Given the description of an element on the screen output the (x, y) to click on. 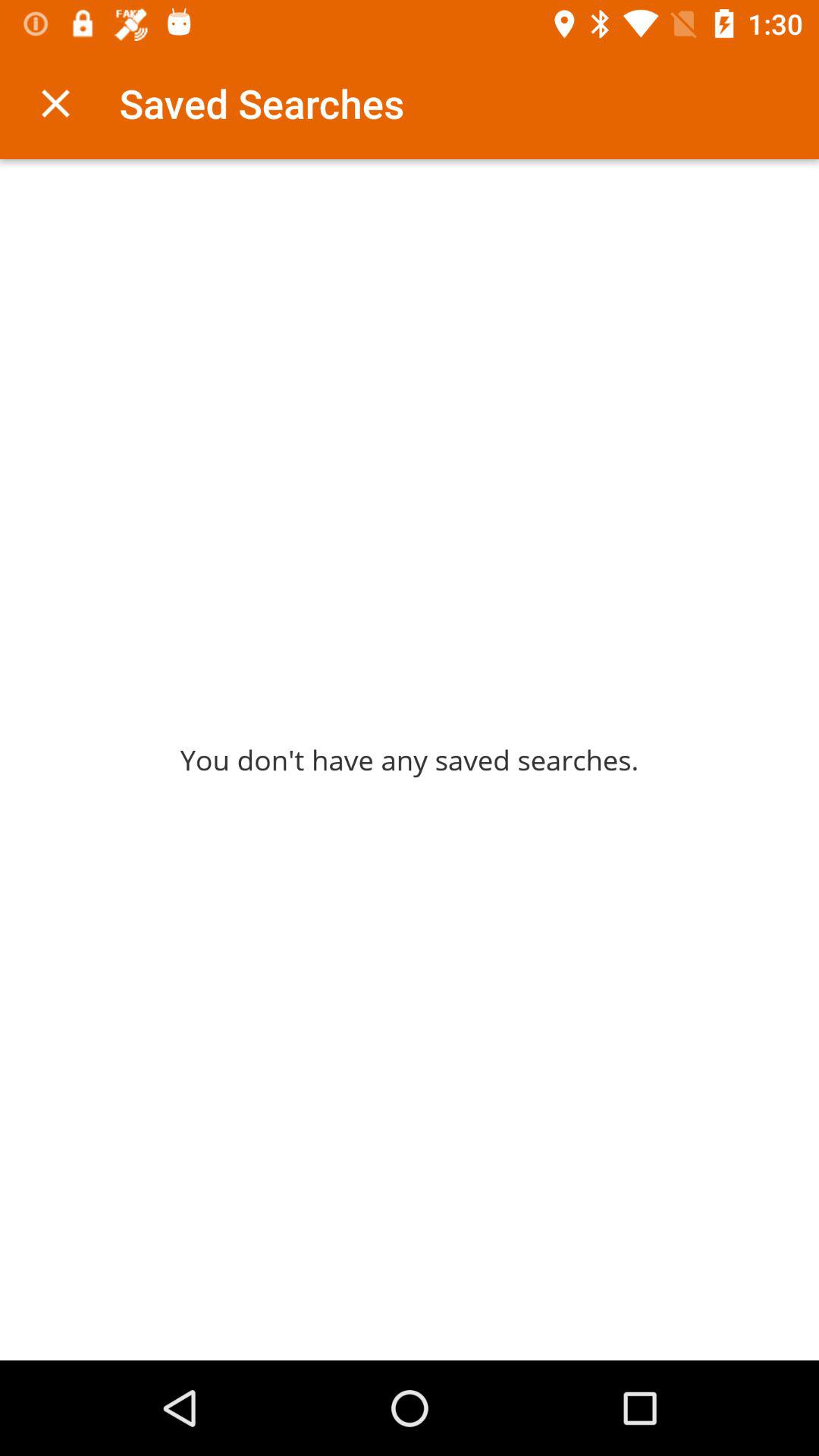
open the app next to the saved searches item (55, 103)
